Given the description of an element on the screen output the (x, y) to click on. 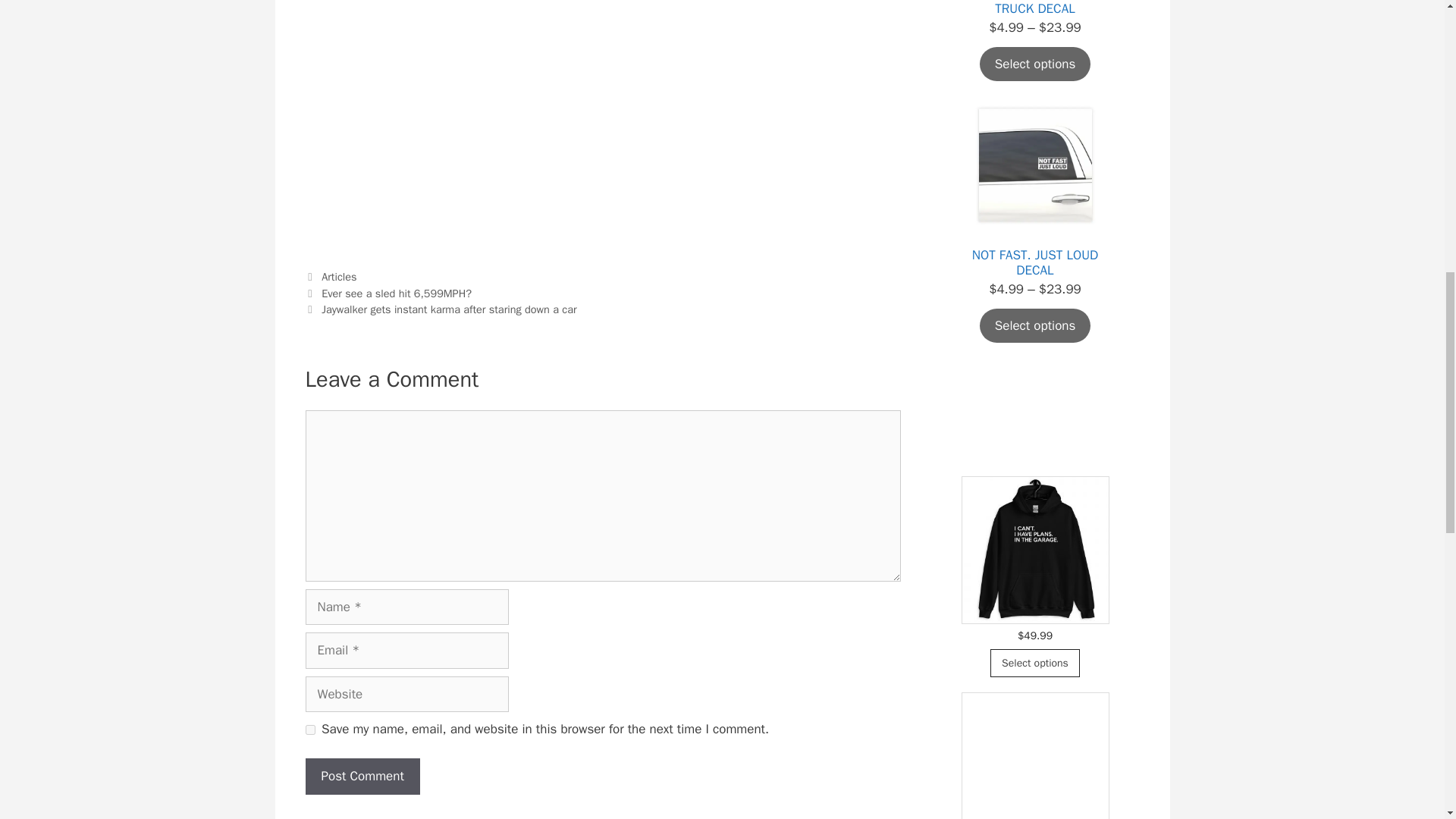
Post Comment (361, 776)
Jaywalker gets instant karma after staring down a car (448, 309)
yes (309, 729)
Articles (338, 276)
Ever see a sled hit 6,599MPH? (396, 293)
Post Comment (361, 776)
